Given the description of an element on the screen output the (x, y) to click on. 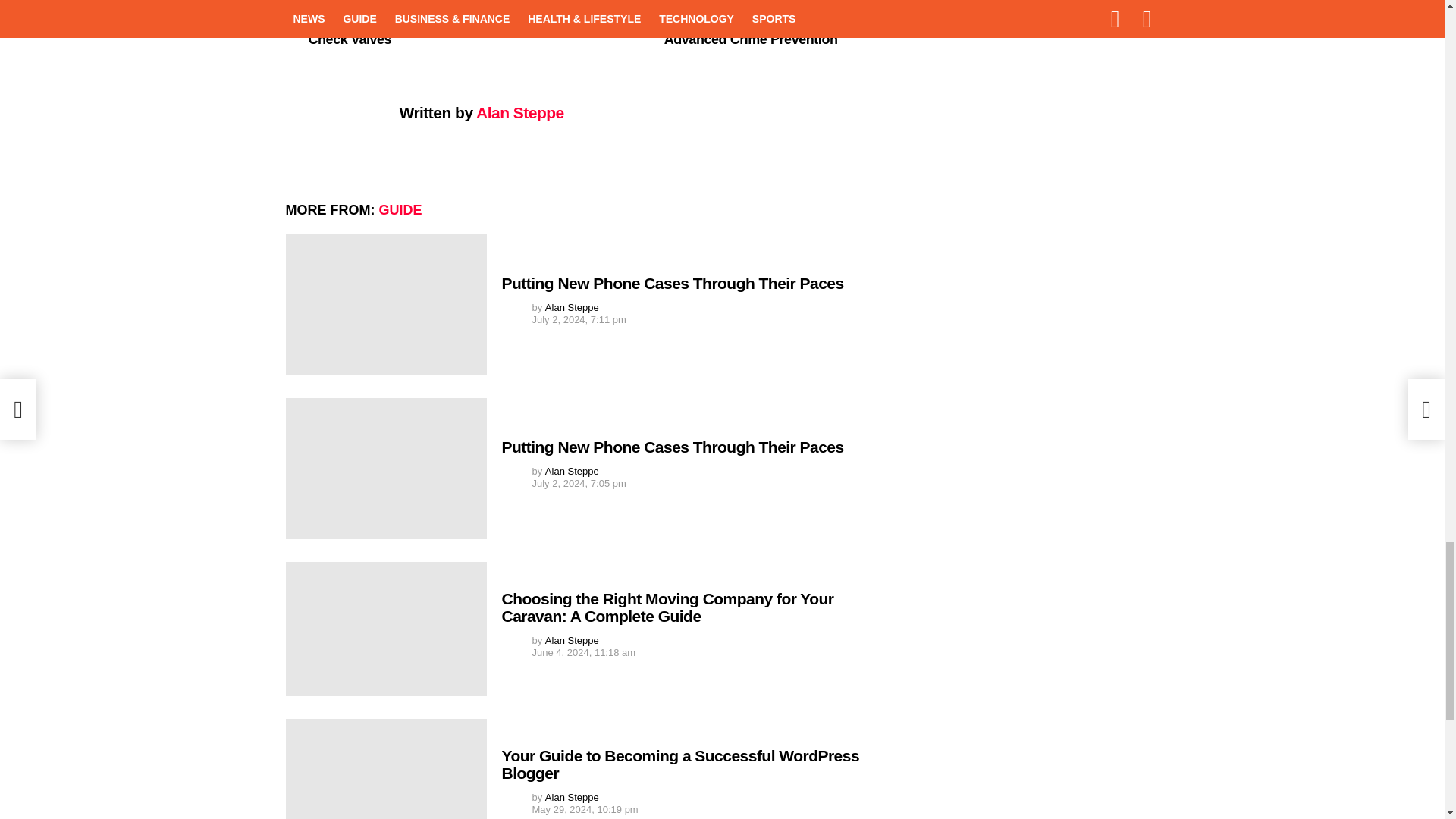
Alan Steppe (520, 112)
GUIDE (400, 209)
Putting New Phone Cases Through Their Paces (385, 304)
Posts by Alan Steppe (571, 307)
Putting New Phone Cases Through Their Paces (673, 282)
Alan Steppe (571, 307)
